Given the description of an element on the screen output the (x, y) to click on. 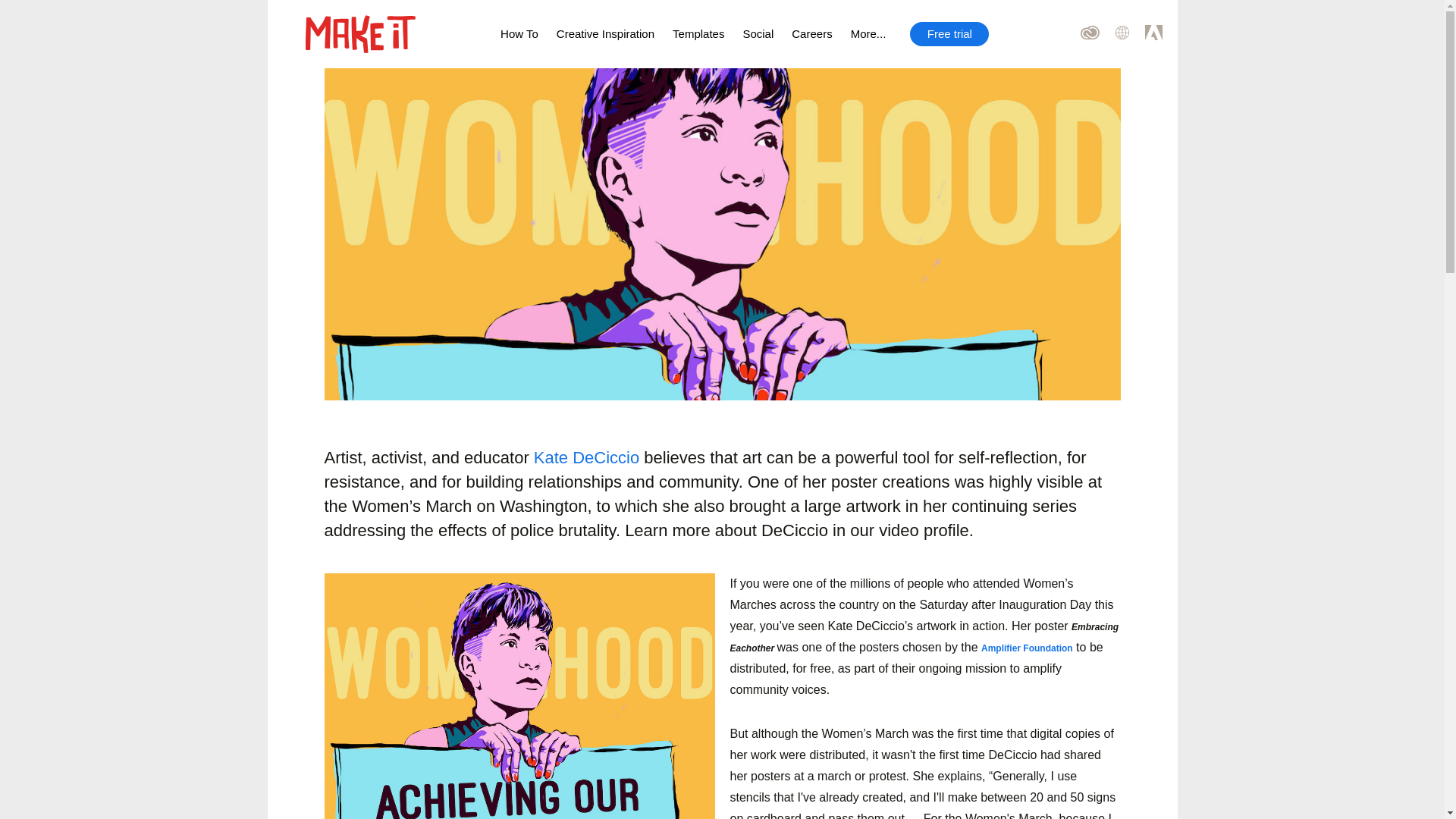
Social (757, 34)
Careers (811, 34)
How To (519, 34)
Templates (697, 34)
Adobe.com (1160, 34)
Free trial (949, 33)
Creative Inspiration (604, 34)
Learn about Creative Cloud (1097, 34)
